Given the description of an element on the screen output the (x, y) to click on. 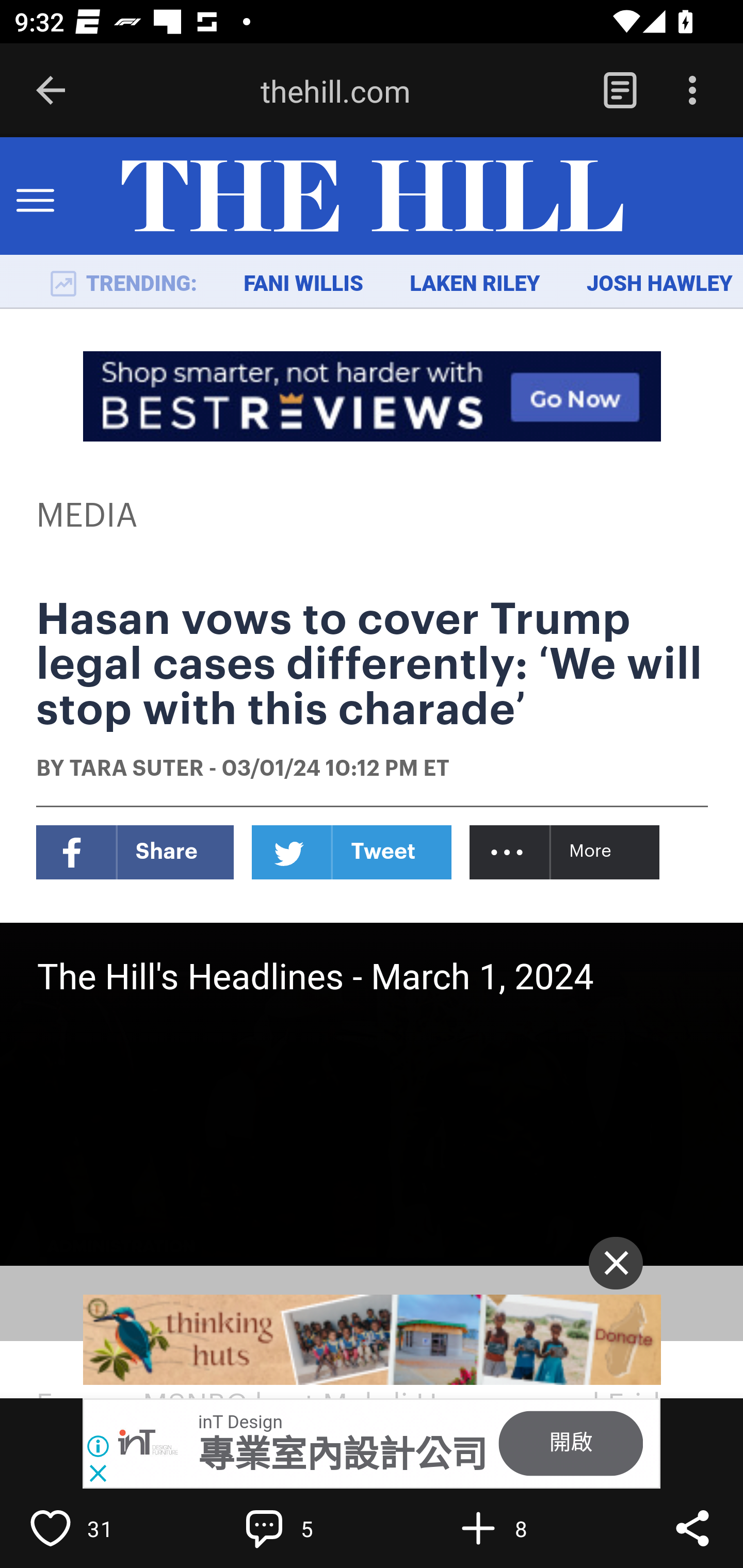
Back (50, 90)
Reader View (619, 90)
Options (692, 90)
Toggle Menu (34, 196)
TheHill.com (371, 196)
FANI WILLIS (303, 284)
LAKEN RILEY (474, 284)
JOSH HAWLEY (659, 284)
MEDIA (87, 516)
TARA SUTER (135, 769)
Facebook Share Facebook Share (135, 852)
Twitter Tweet Twitter Tweet (352, 852)
... More (565, 852)
✕ (616, 1262)
Advertisement (372, 1339)
Like 31 (93, 1528)
Write a comment… 5 (307, 1528)
Flip into Magazine 8 (521, 1528)
Share (692, 1528)
